Given the description of an element on the screen output the (x, y) to click on. 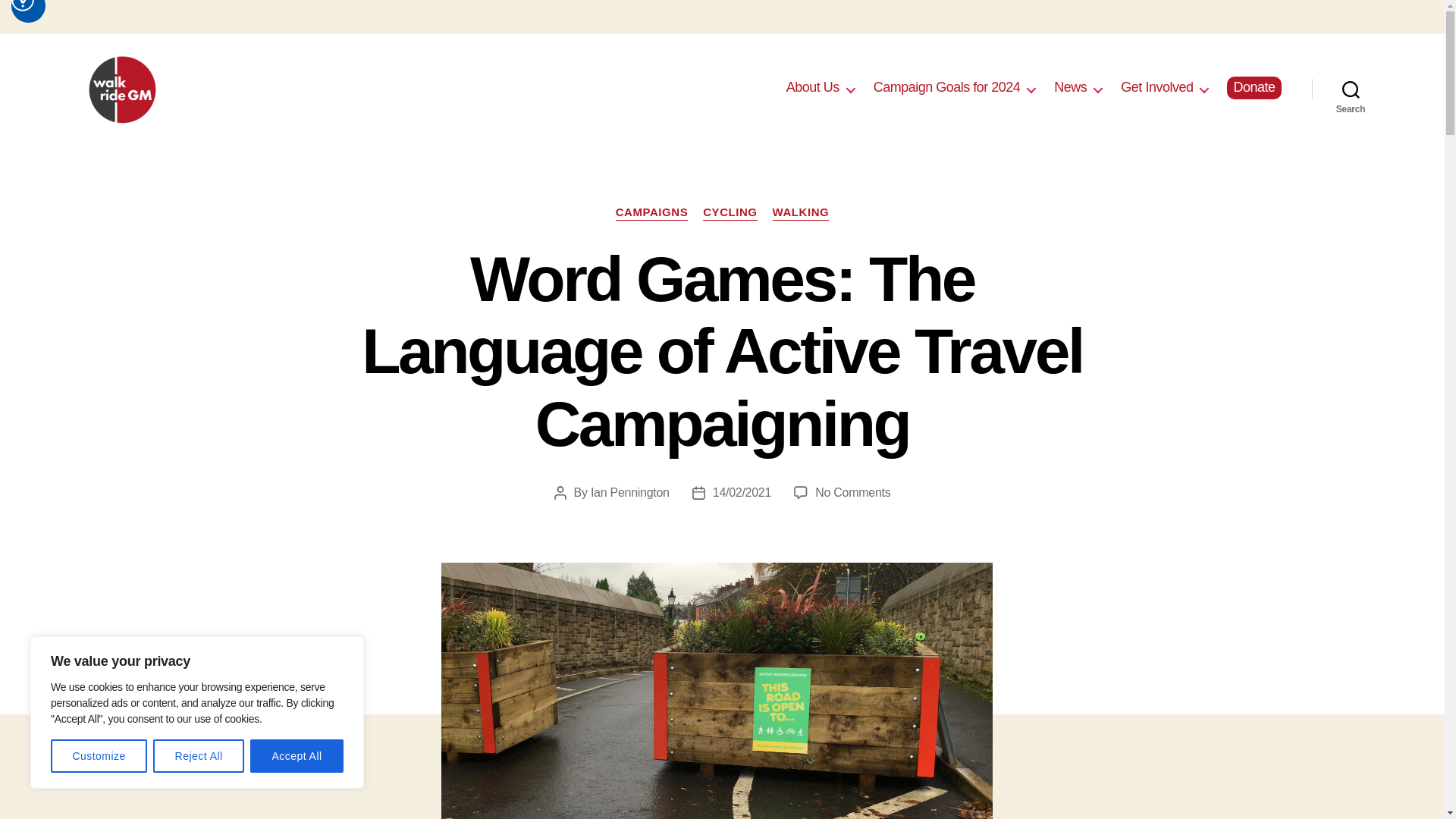
Get Involved (1164, 87)
Donate (1254, 87)
Search (1350, 89)
News (1078, 87)
Campaign Goals for 2024 (954, 87)
Accept All (296, 756)
Reject All (198, 756)
About Us (820, 87)
Customize (98, 756)
